Given the description of an element on the screen output the (x, y) to click on. 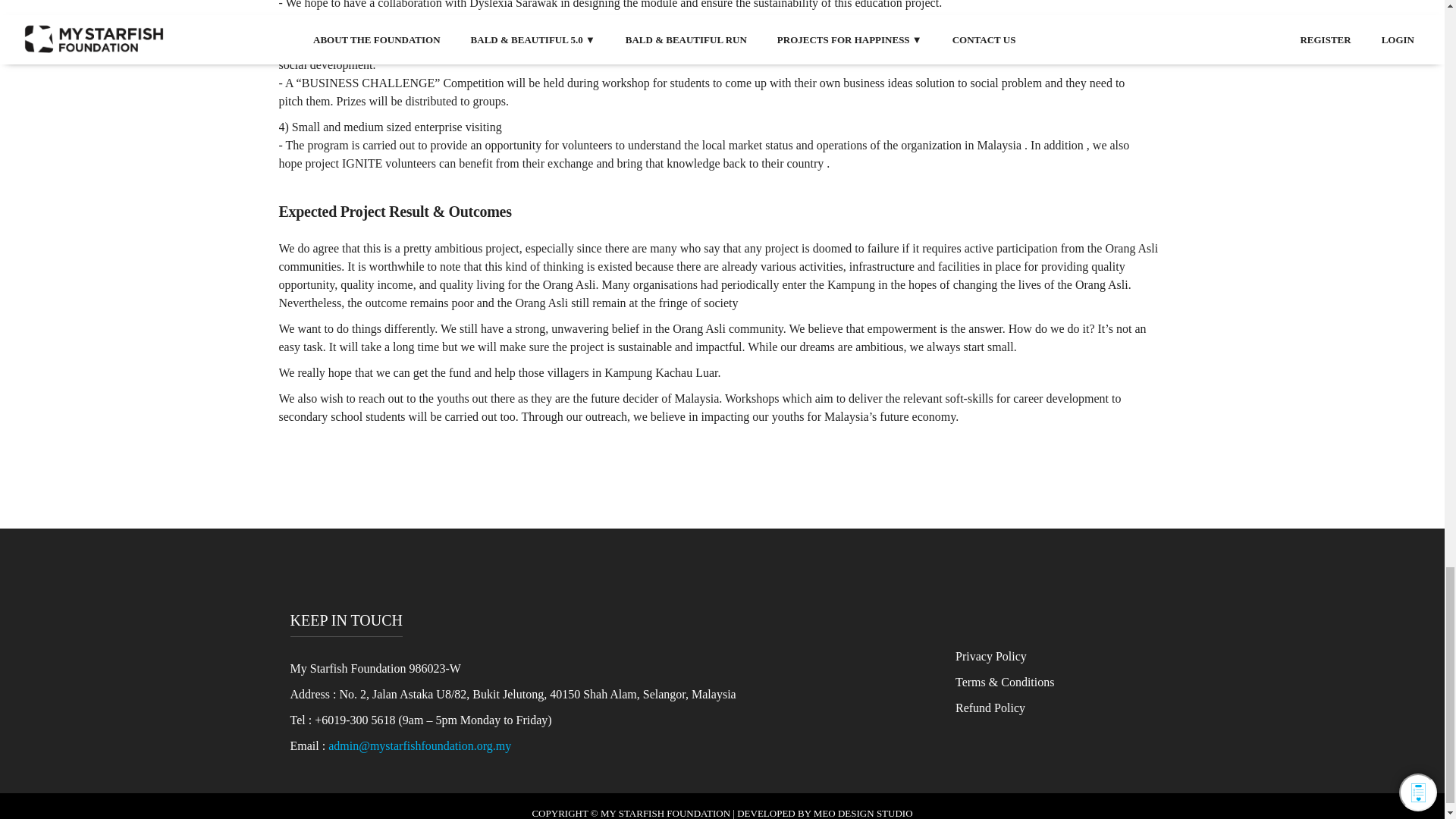
Refund Policy (990, 707)
Privacy Policy (990, 656)
